Given the description of an element on the screen output the (x, y) to click on. 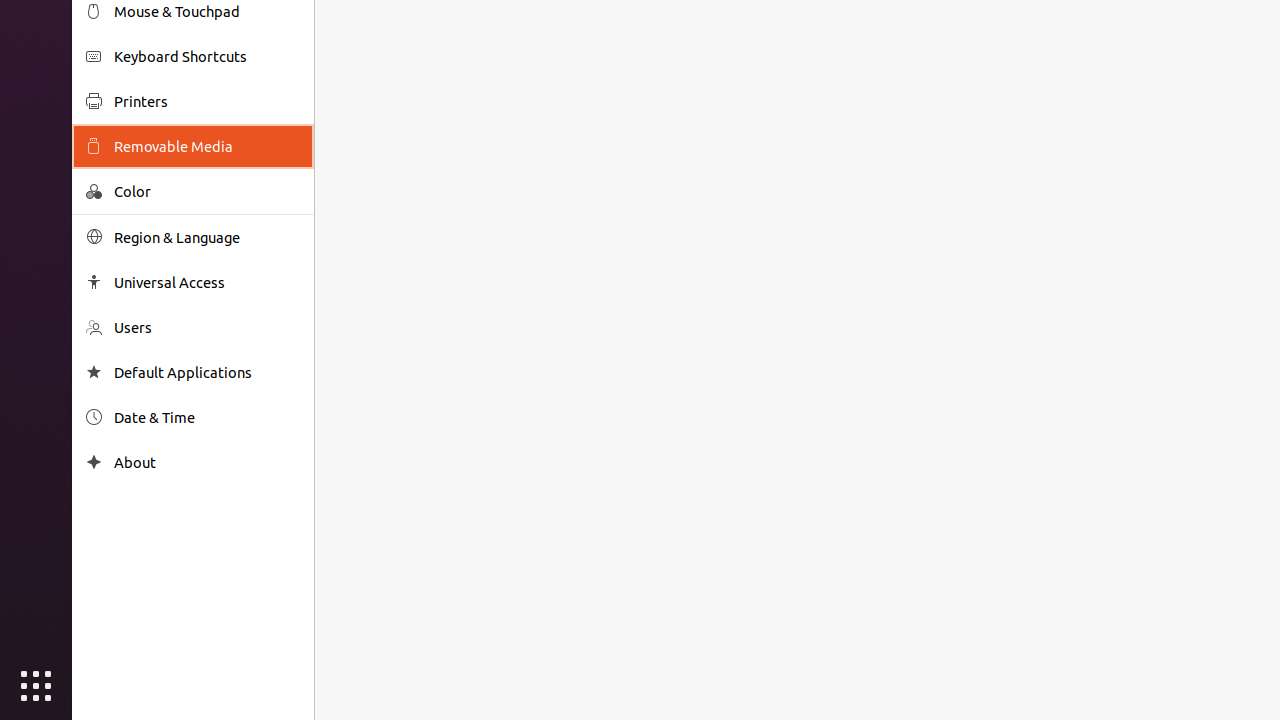
Color Element type: label (207, 191)
About Element type: icon (94, 462)
Region & Language Element type: label (207, 237)
Default Applications Element type: label (207, 372)
Keyboard Shortcuts Element type: label (207, 56)
